Given the description of an element on the screen output the (x, y) to click on. 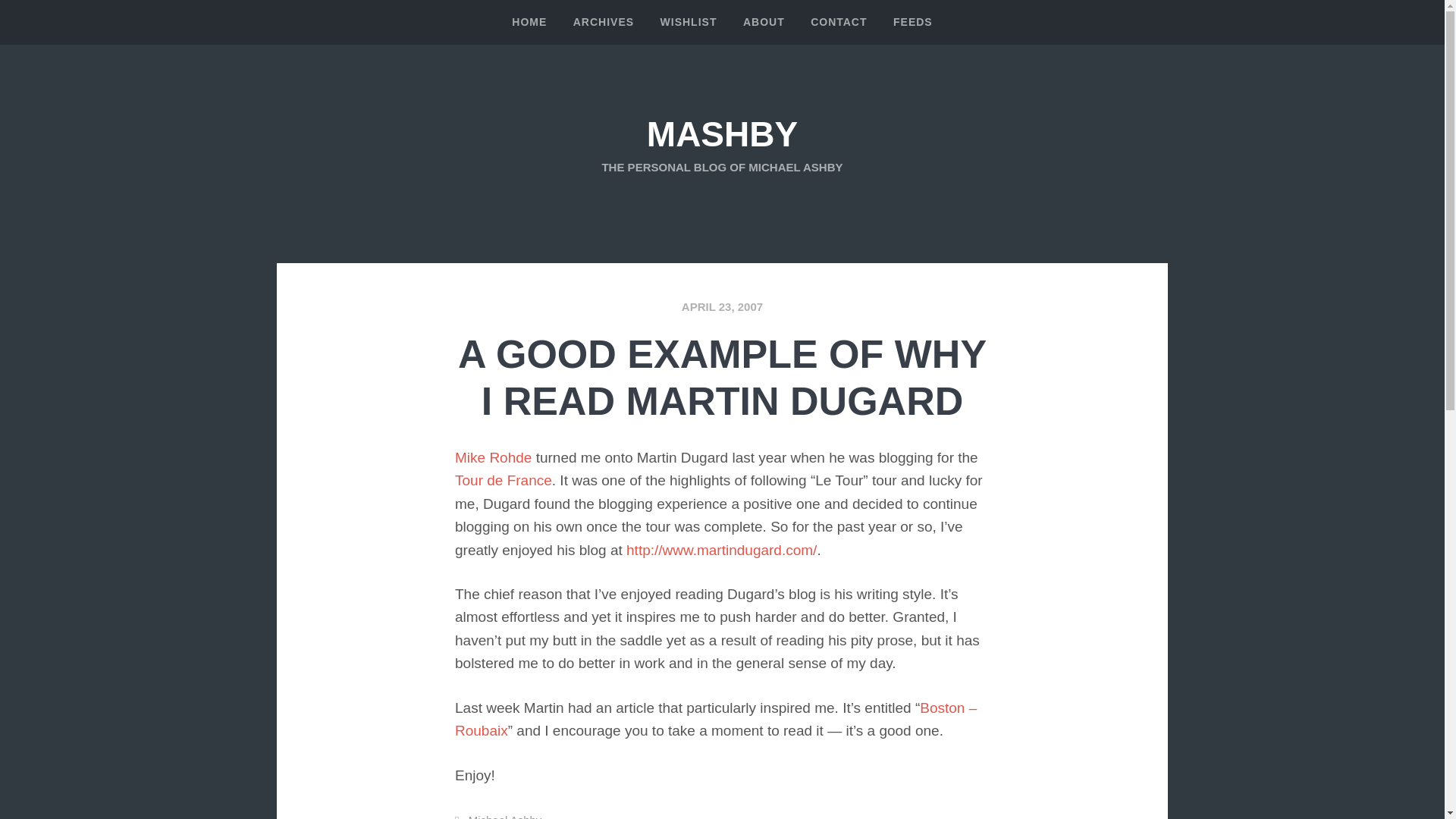
A Good Example Of Why I Read Martin Dugard (722, 306)
Posts by Michael Ashby (504, 816)
ARCHIVES (603, 22)
Michael Ashby (504, 816)
A GOOD EXAMPLE OF WHY I READ MARTIN DUGARD (722, 377)
HOME (528, 22)
mashby (721, 133)
WISHLIST (689, 22)
Mike Rohde (492, 457)
A Good Example Of Why I Read Martin Dugard (722, 377)
